Given the description of an element on the screen output the (x, y) to click on. 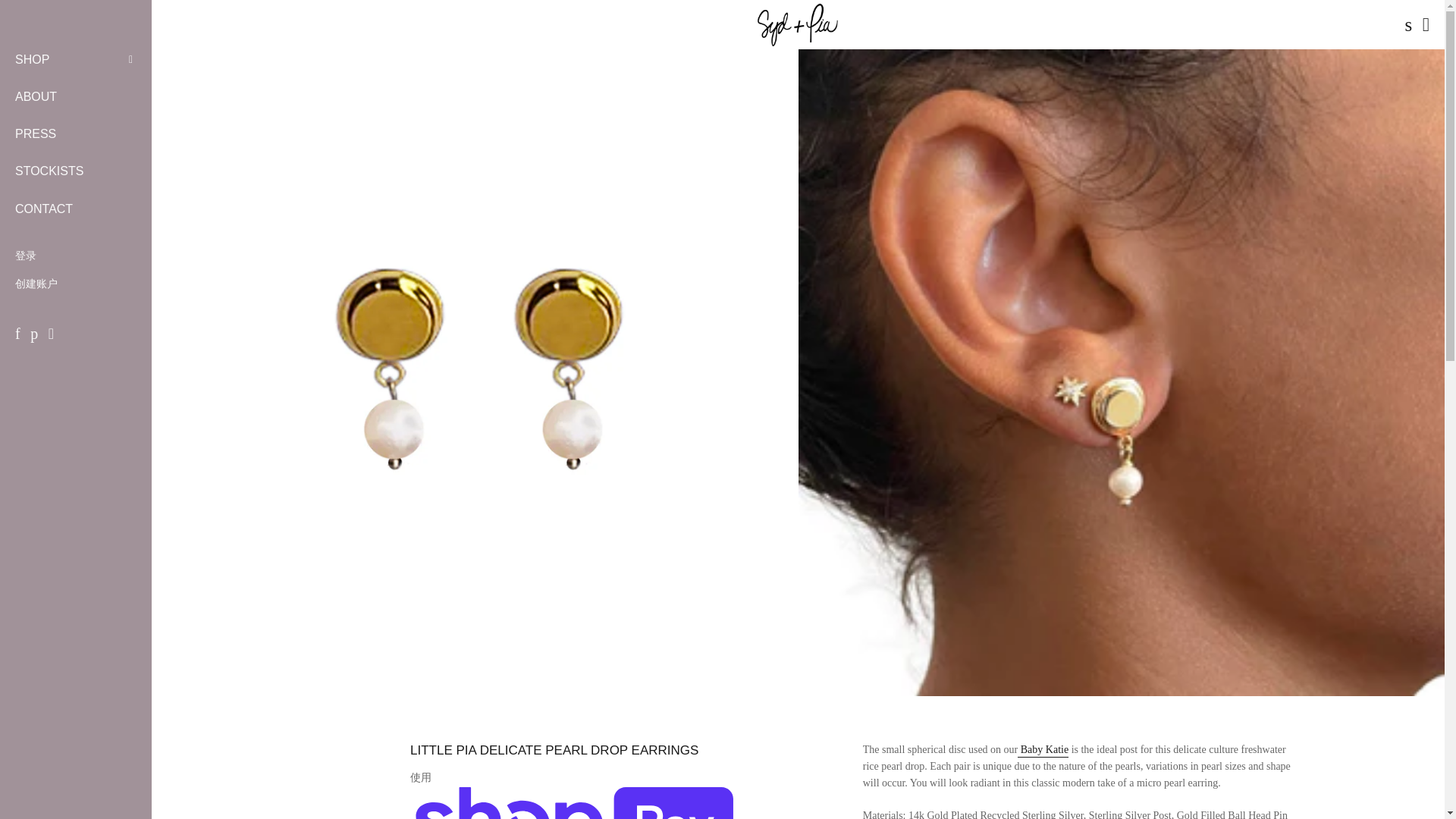
ABOUT (75, 97)
PRESS (75, 134)
Baby Katie (1042, 749)
SHOP (60, 59)
CONTACT (75, 208)
STOCKISTS (75, 171)
Baby Katie (1042, 749)
